Given the description of an element on the screen output the (x, y) to click on. 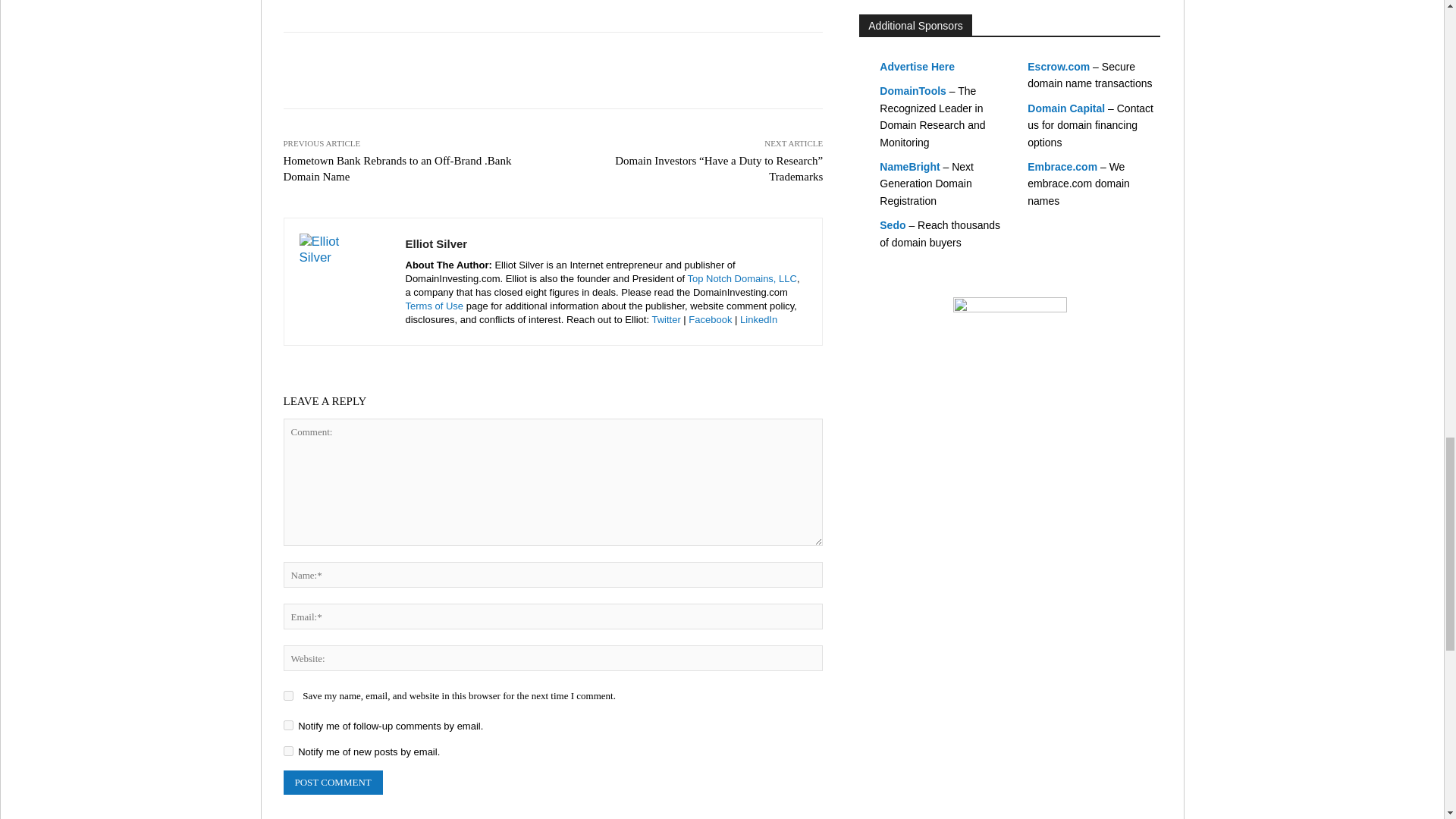
Elliot Silver (344, 281)
yes (288, 696)
Post Comment (332, 782)
subscribe (288, 725)
subscribe (288, 750)
